Given the description of an element on the screen output the (x, y) to click on. 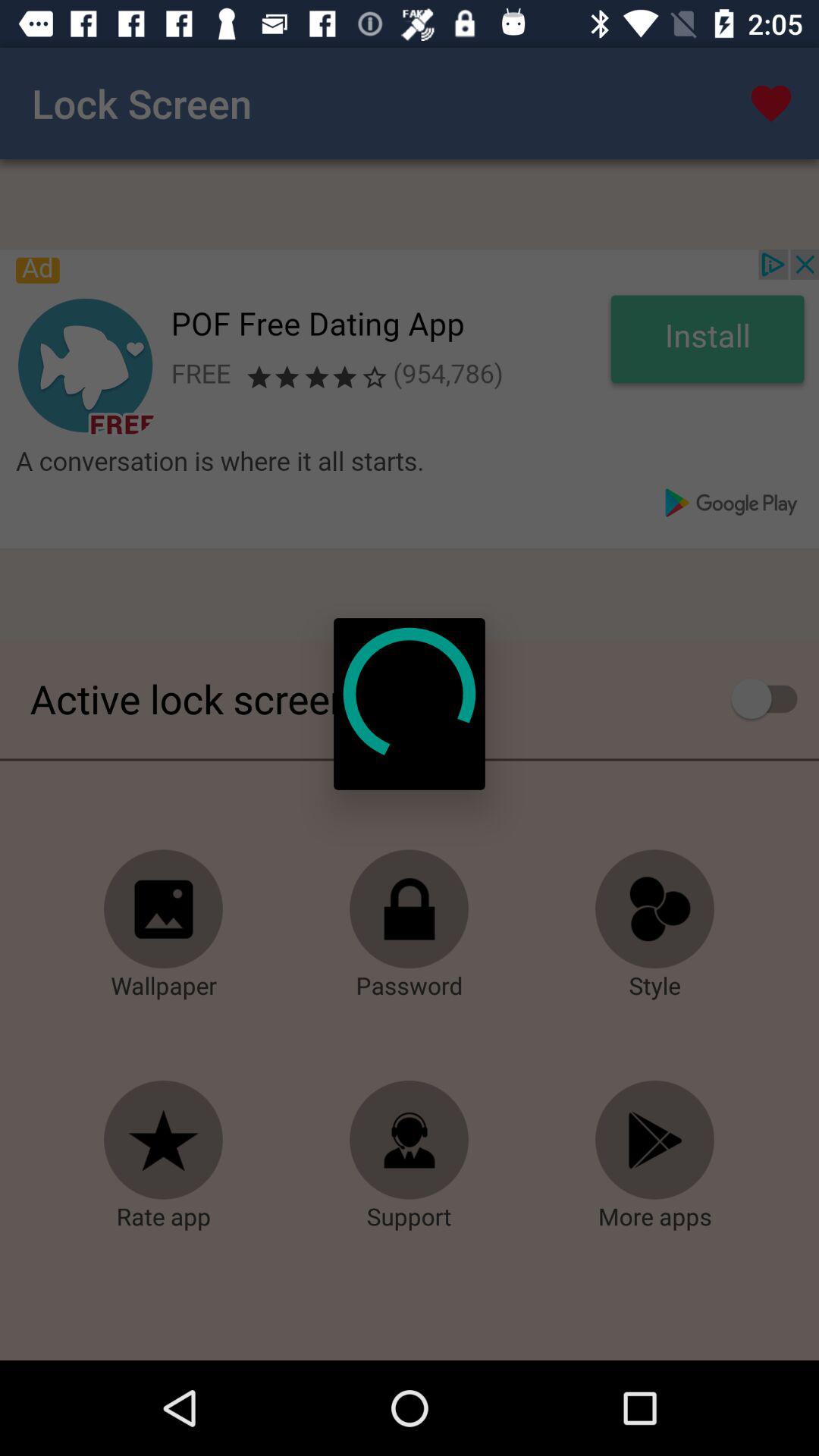
loads more apps (654, 1140)
